Given the description of an element on the screen output the (x, y) to click on. 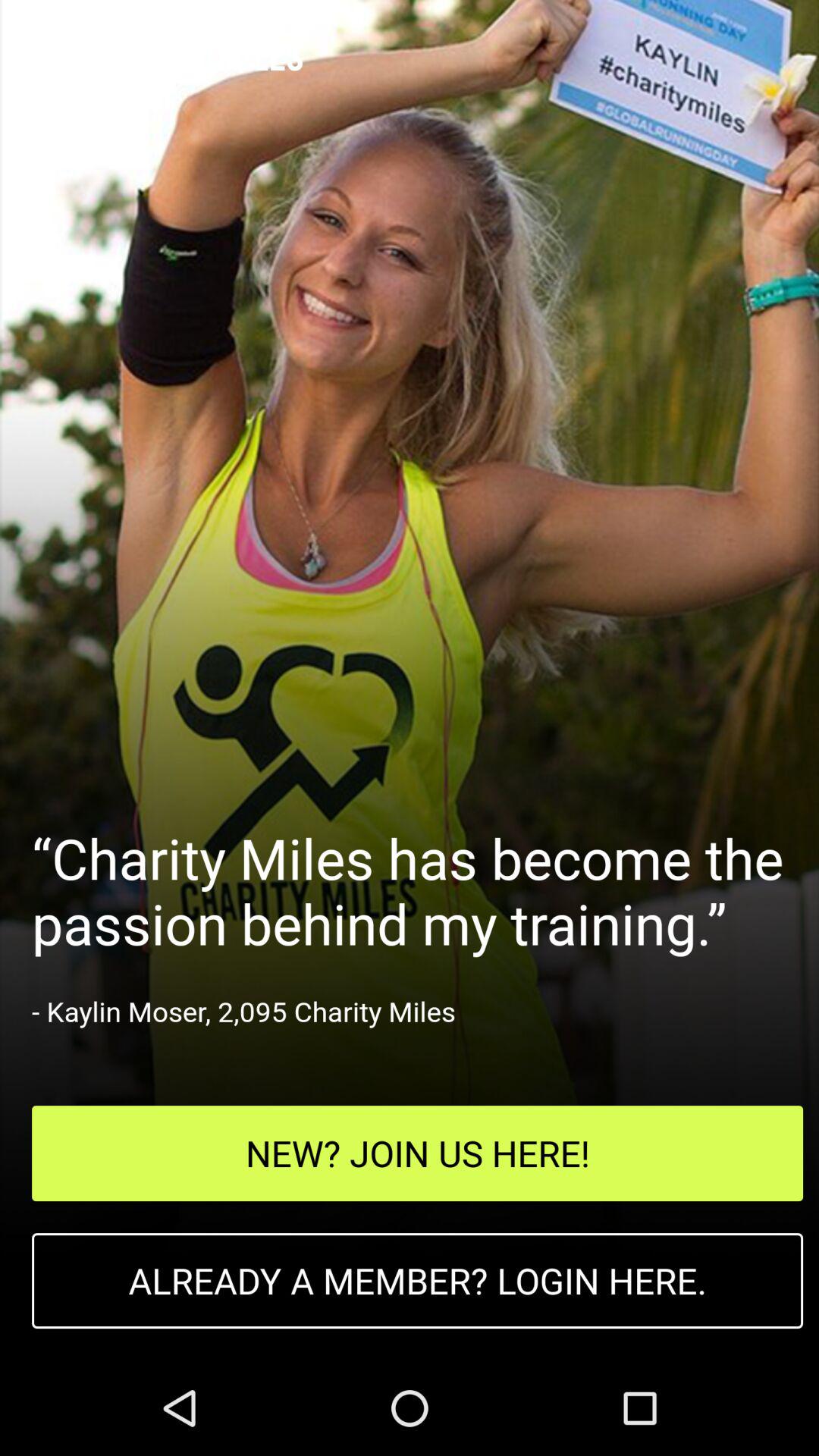
click the icon above the already a member item (417, 1153)
